Given the description of an element on the screen output the (x, y) to click on. 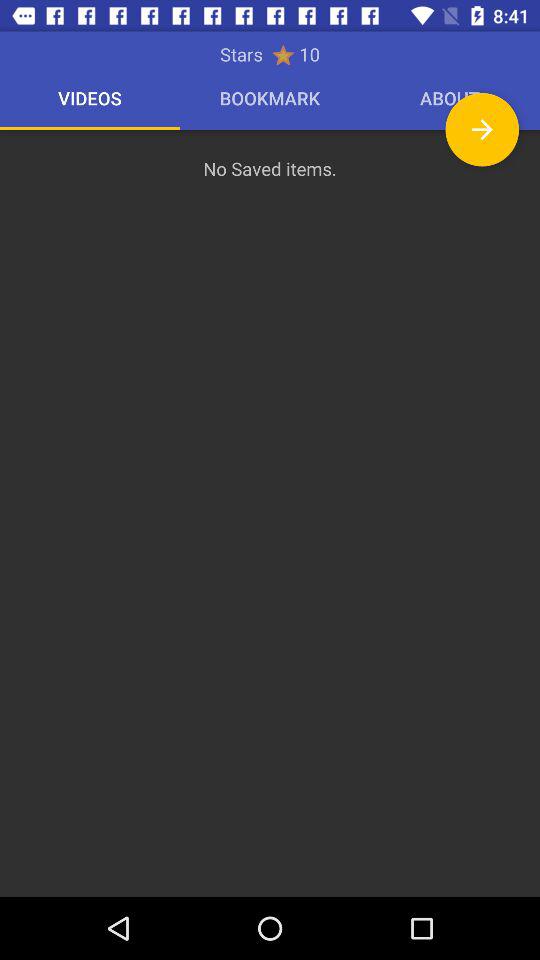
next (482, 129)
